Given the description of an element on the screen output the (x, y) to click on. 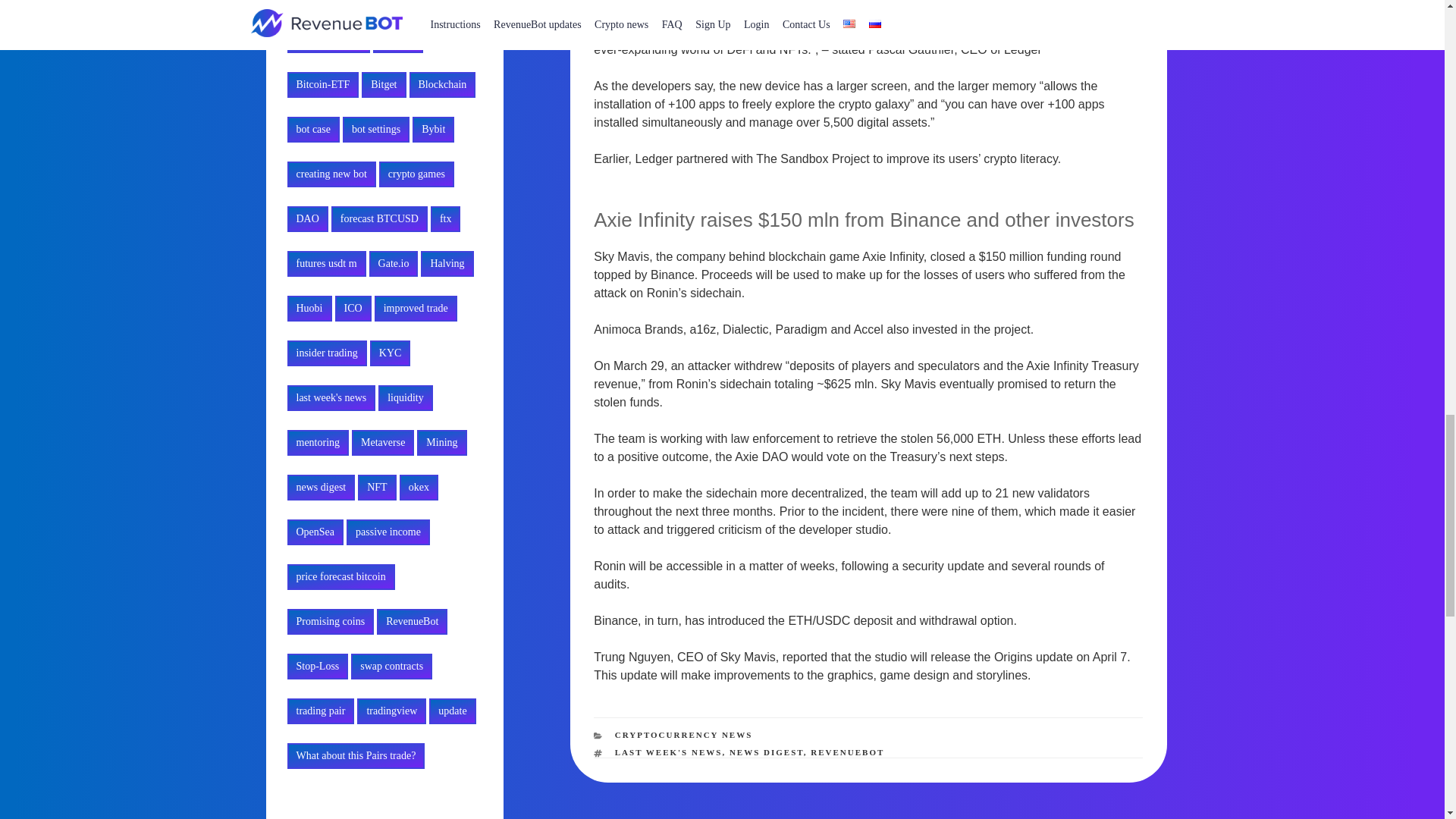
CRYPTOCURRENCY NEWS (683, 734)
REVENUEBOT (846, 751)
LAST WEEK'S NEWS (668, 751)
NEWS DIGEST (766, 751)
